Given the description of an element on the screen output the (x, y) to click on. 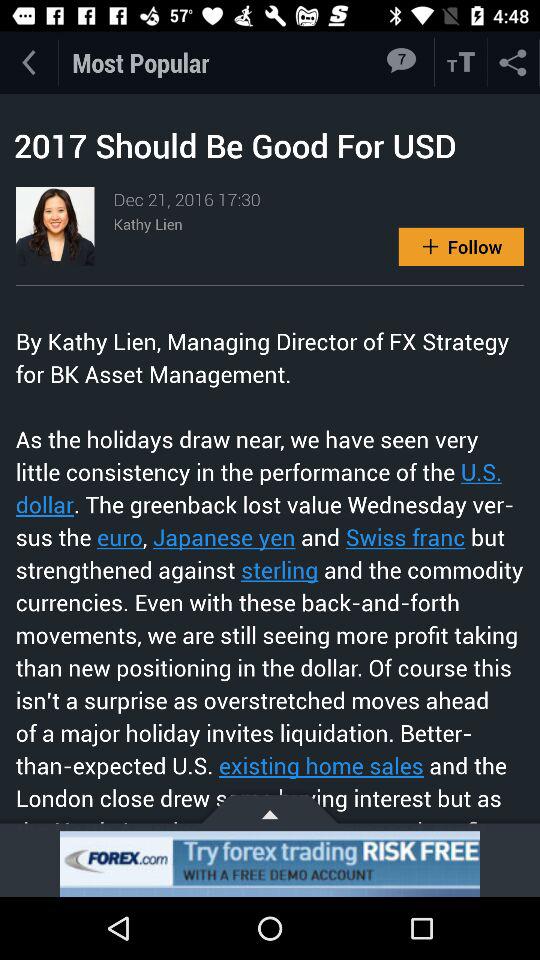
open an advertised app (270, 864)
